Given the description of an element on the screen output the (x, y) to click on. 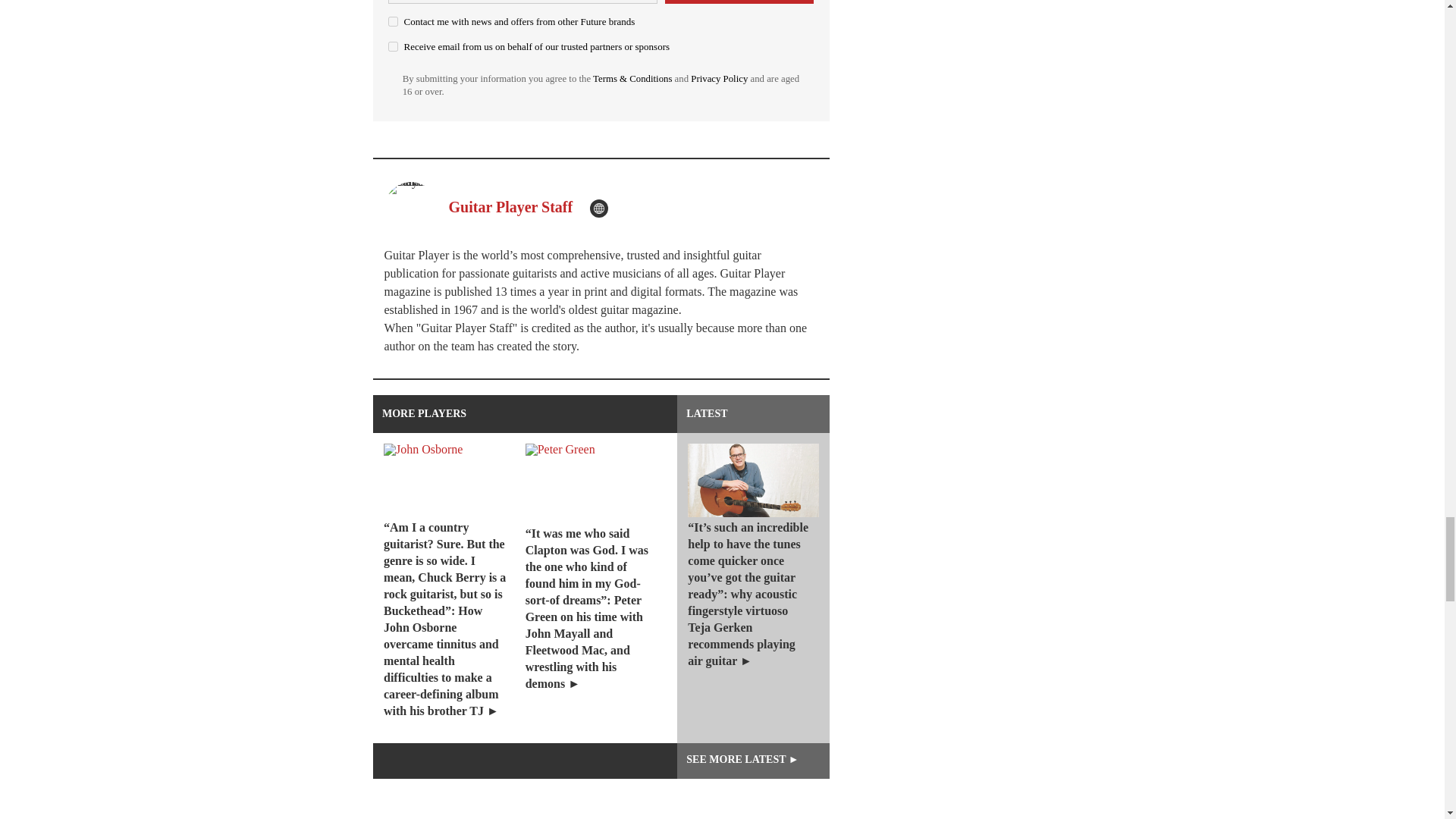
Sign me up (739, 2)
on (392, 21)
Sign me up (739, 2)
on (392, 46)
Privacy Policy (719, 78)
Guitar Player Staff (510, 207)
